Given the description of an element on the screen output the (x, y) to click on. 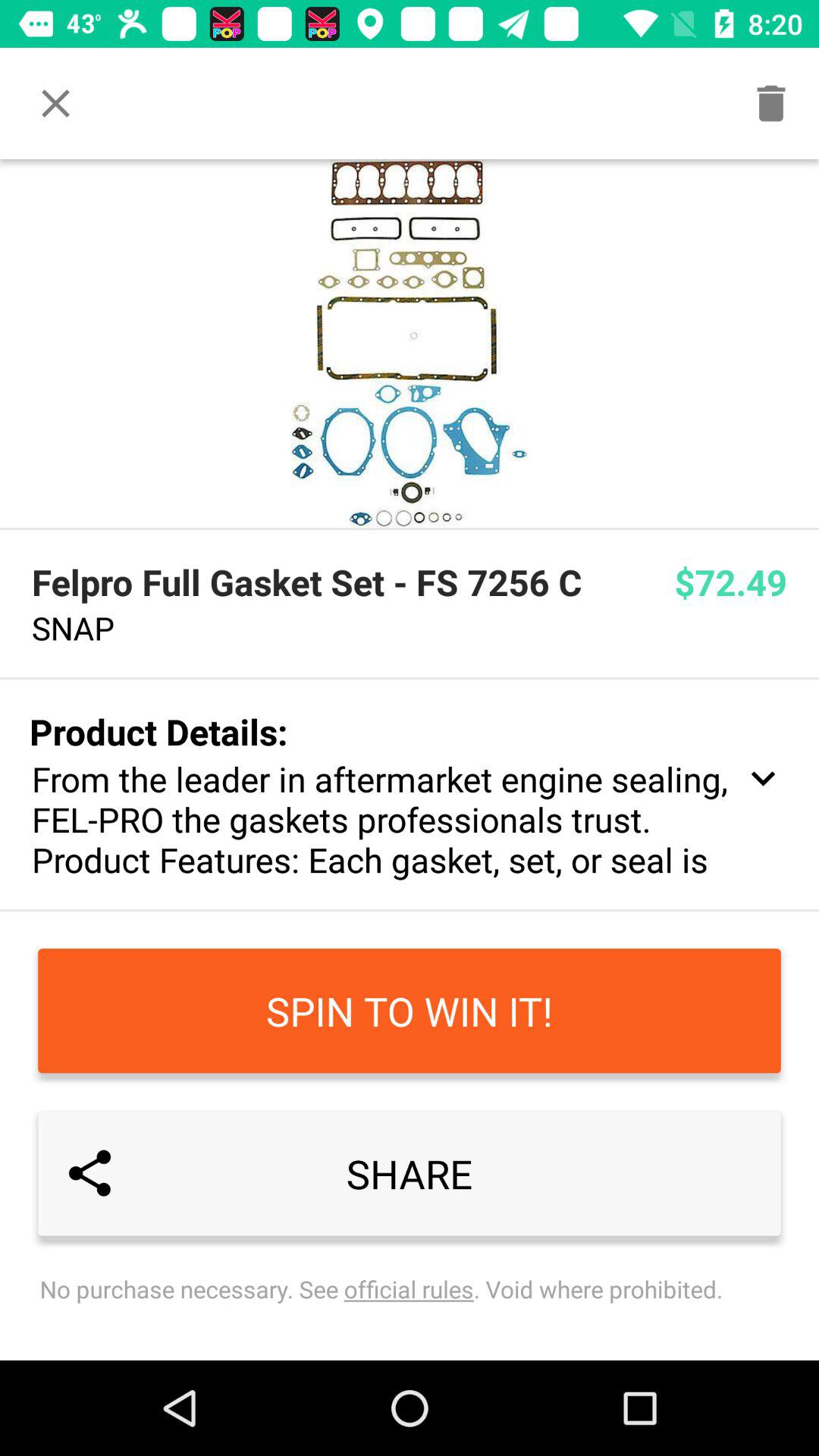
turn on the icon at the top left corner (55, 103)
